Given the description of an element on the screen output the (x, y) to click on. 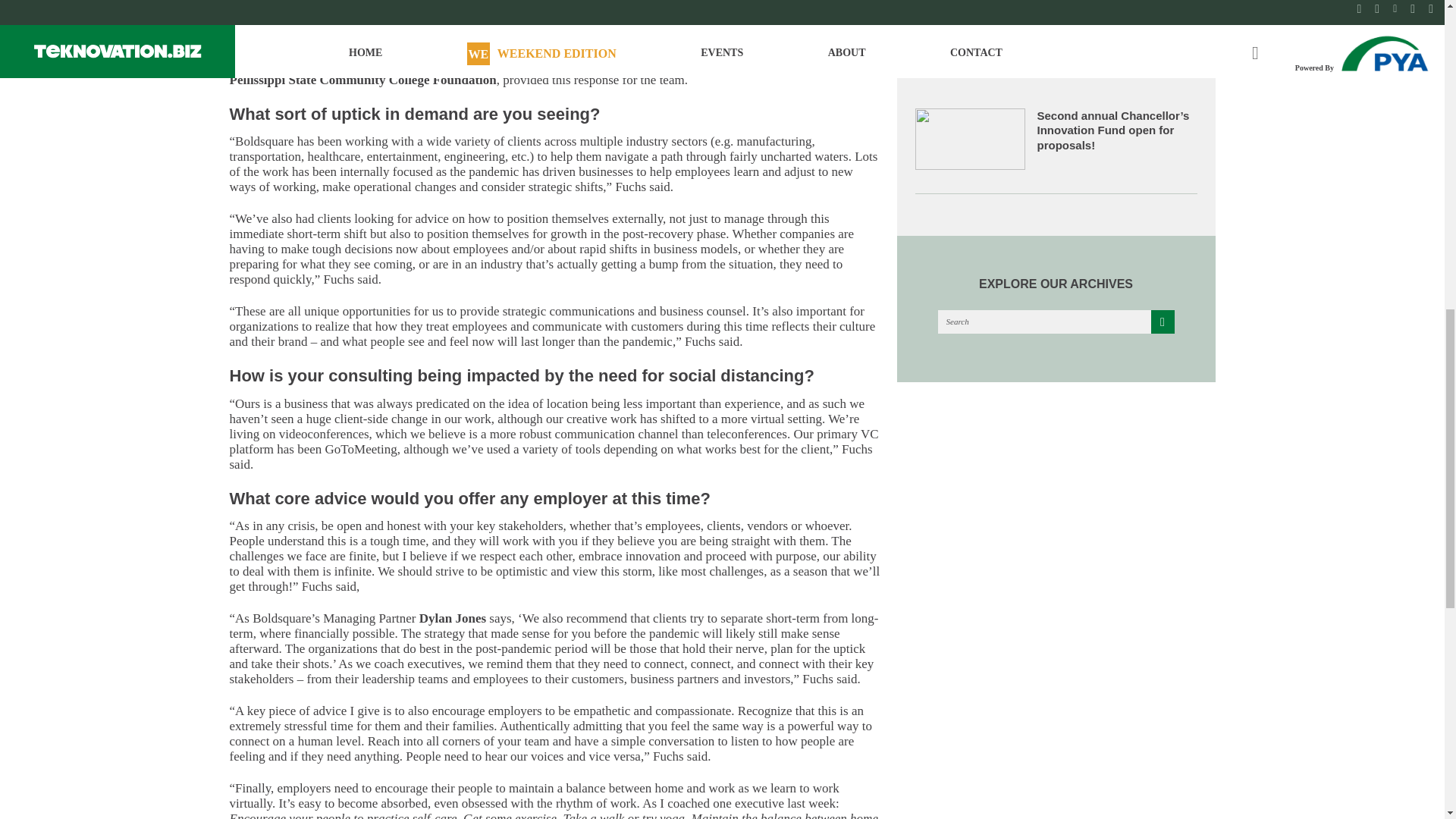
this teknovation.biz article (362, 4)
